Given the description of an element on the screen output the (x, y) to click on. 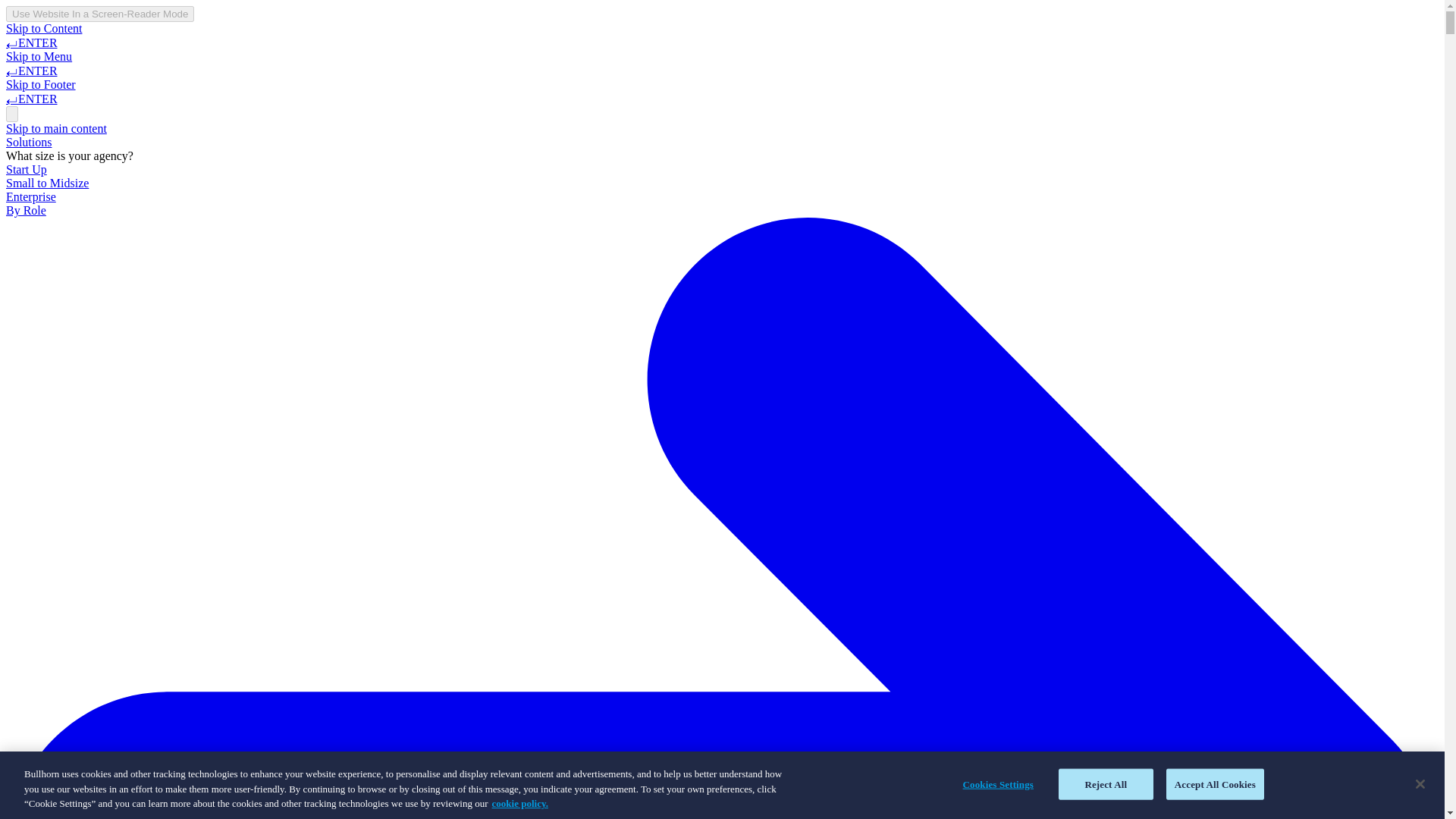
Skip to main content (55, 128)
Enterprise (30, 196)
Start Up (25, 169)
Solutions (27, 141)
Small to Midsize (46, 182)
